Given the description of an element on the screen output the (x, y) to click on. 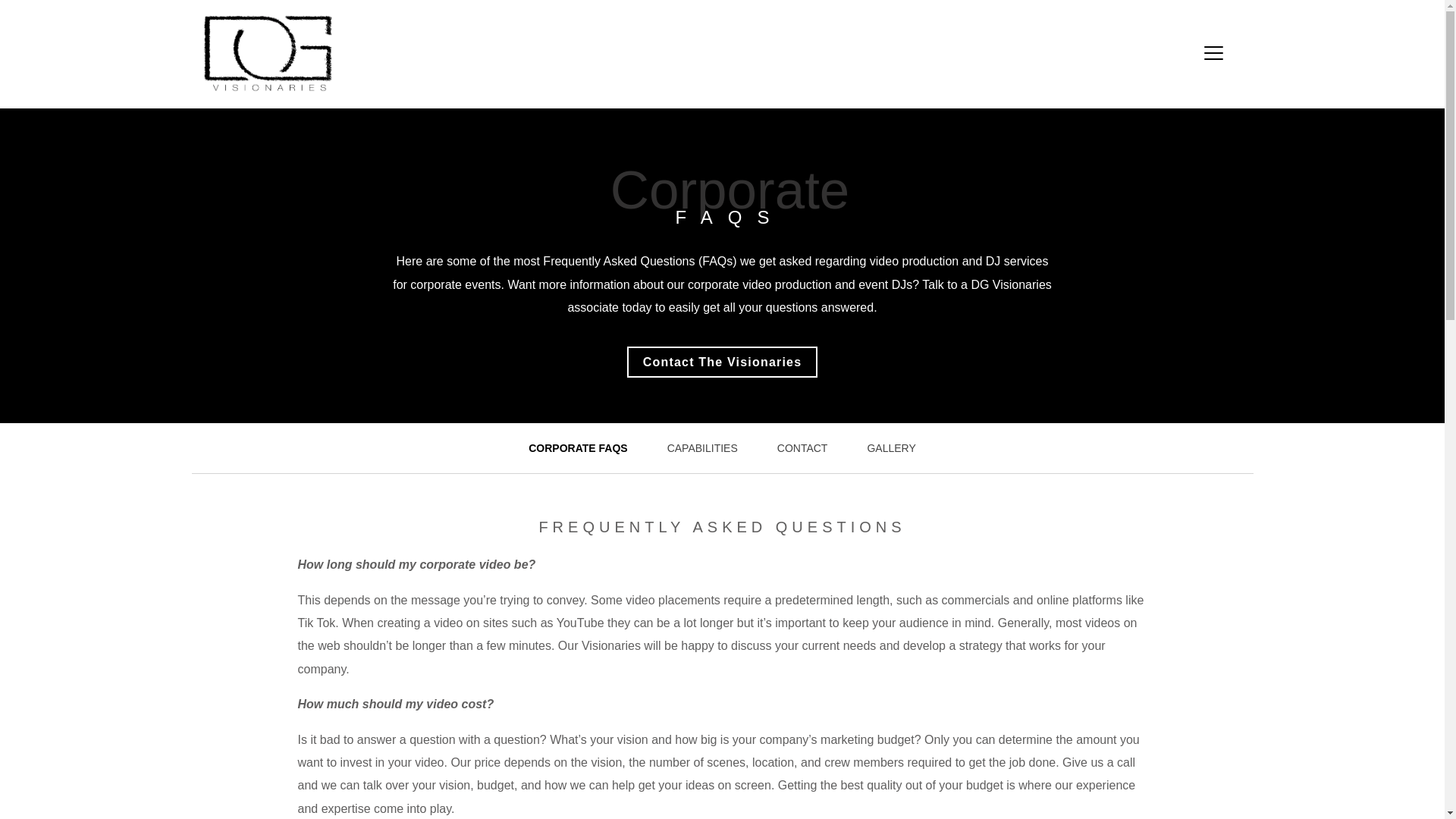
GALLERY (890, 448)
CORPORATE FAQS (577, 448)
CONTACT (802, 448)
Contact The Visionaries (722, 361)
CAPABILITIES (702, 448)
